Given the description of an element on the screen output the (x, y) to click on. 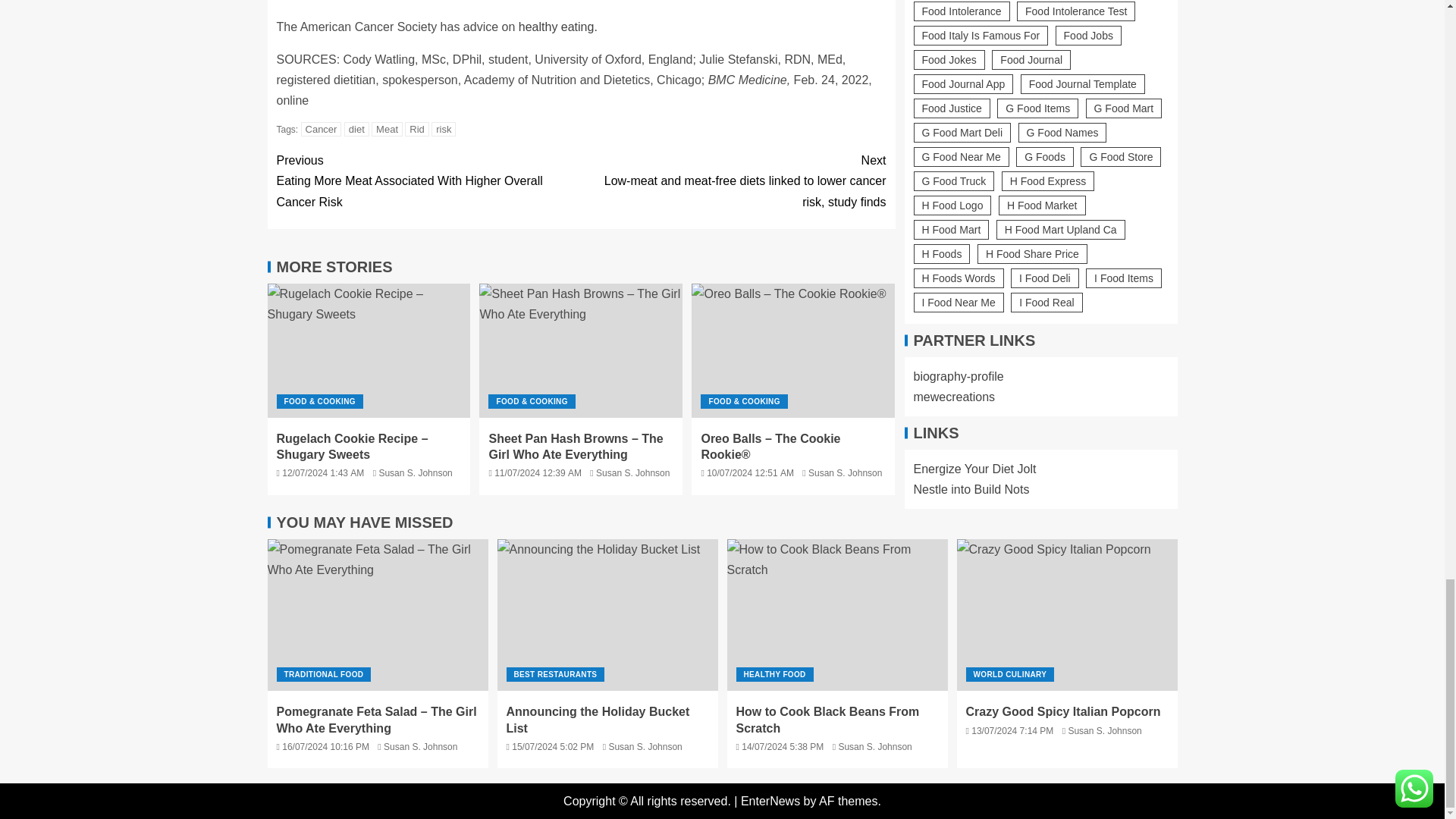
How to Cook Black Beans From Scratch (836, 614)
Announcing the Holiday Bucket List (607, 614)
Cancer (321, 129)
Rid (416, 129)
healthy eating. (557, 26)
Crazy Good Spicy Italian Popcorn (1066, 614)
Meat (387, 129)
diet (356, 129)
risk (442, 129)
